Given the description of an element on the screen output the (x, y) to click on. 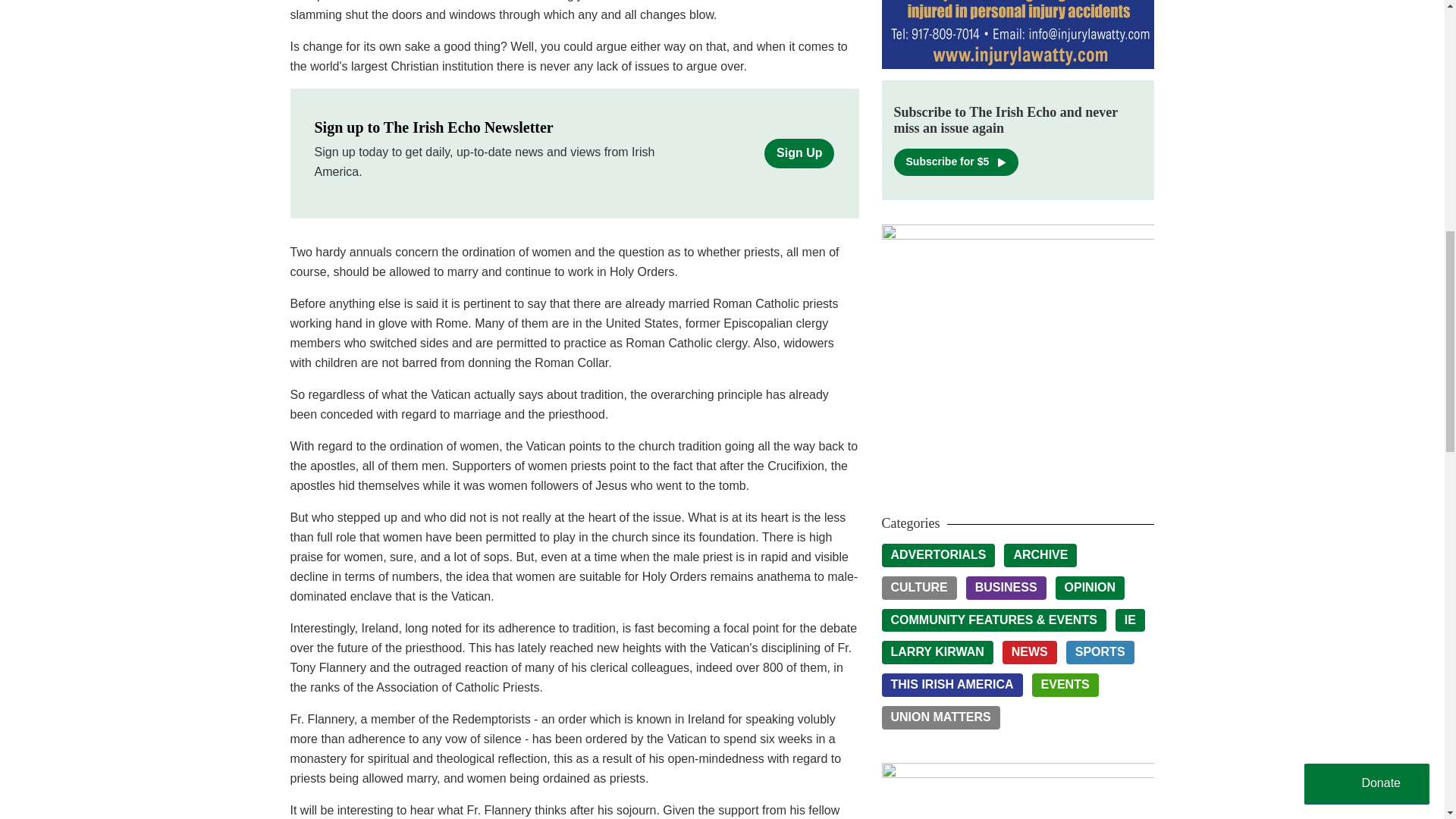
cronin Tours  (1017, 790)
